Given the description of an element on the screen output the (x, y) to click on. 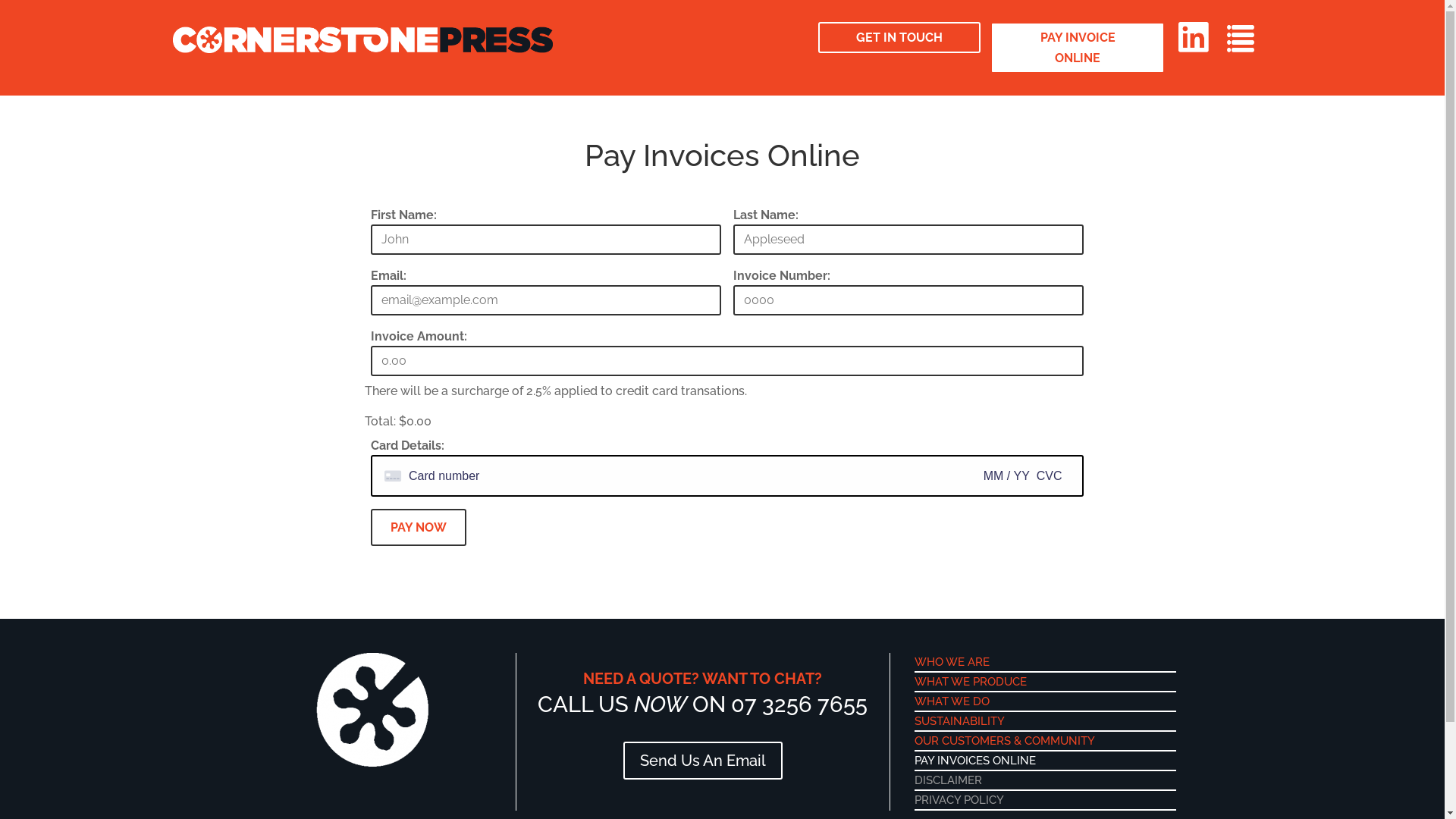
PAY INVOICES ONLINE Element type: text (974, 760)
icon-150x150-1 Element type: hover (372, 709)
CSP_1_Header_Icon_LinkedIn Element type: hover (1193, 36)
OUR CUSTOMERS & COMMUNITY Element type: text (1004, 740)
PRIVACY POLICY Element type: text (959, 799)
Send Us An Email Element type: text (702, 760)
Pay Now Element type: text (417, 527)
Secure card payment input frame Element type: hover (726, 475)
PAY INVOICE ONLINE Element type: text (1077, 47)
WHAT WE DO Element type: text (951, 701)
CSP_1_Header_Logo Element type: hover (362, 39)
GET IN TOUCH Element type: text (899, 37)
SUSTAINABILITY Element type: text (959, 721)
WHAT WE PRODUCE Element type: text (970, 681)
DISCLAIMER Element type: text (948, 780)
WHO WE ARE Element type: text (951, 661)
